Given the description of an element on the screen output the (x, y) to click on. 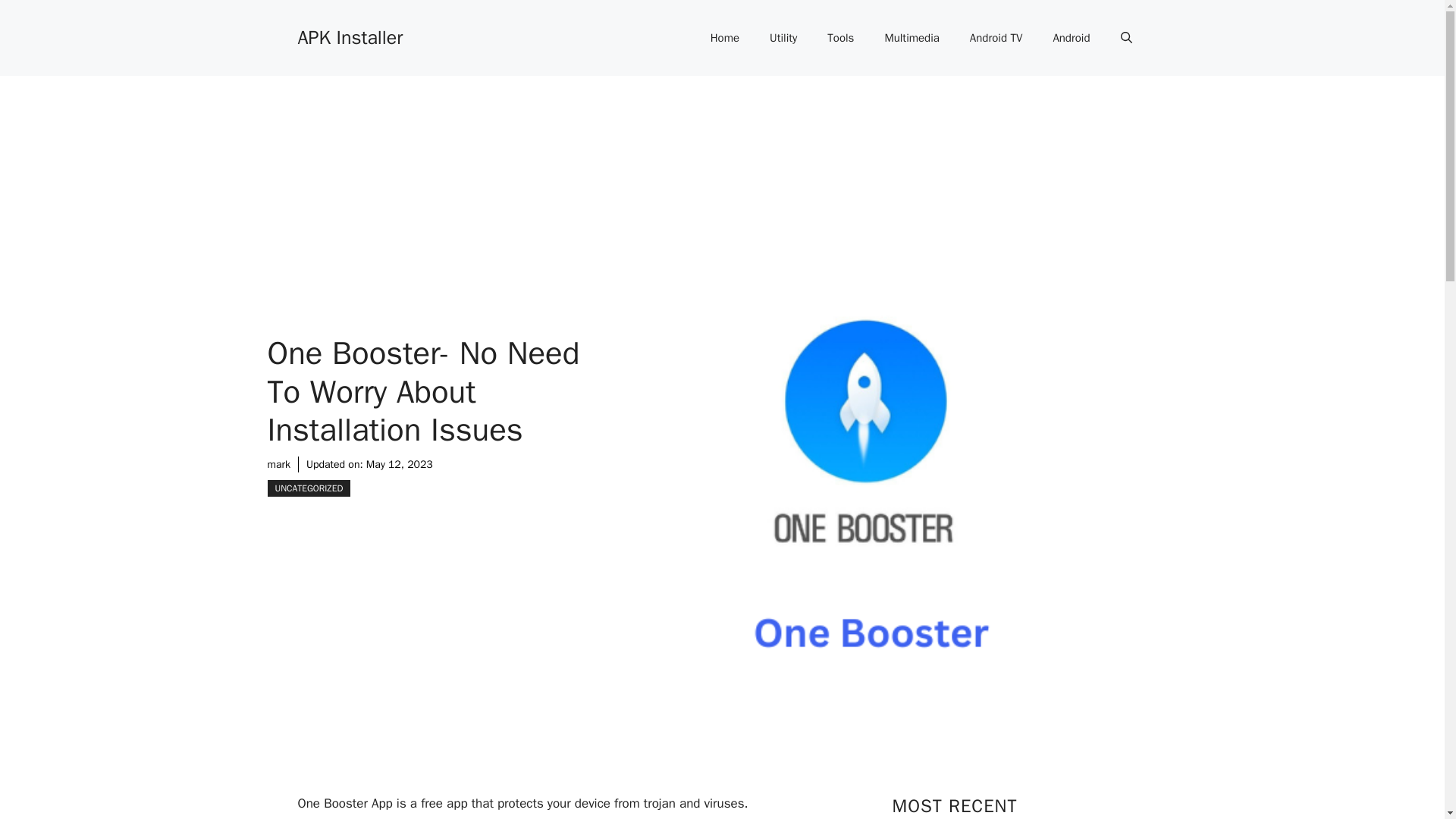
APK Installer (350, 37)
Android (1070, 37)
Tools (840, 37)
Android TV (996, 37)
Home (724, 37)
Utility (783, 37)
UNCATEGORIZED (308, 487)
mark (277, 463)
Multimedia (911, 37)
